Given the description of an element on the screen output the (x, y) to click on. 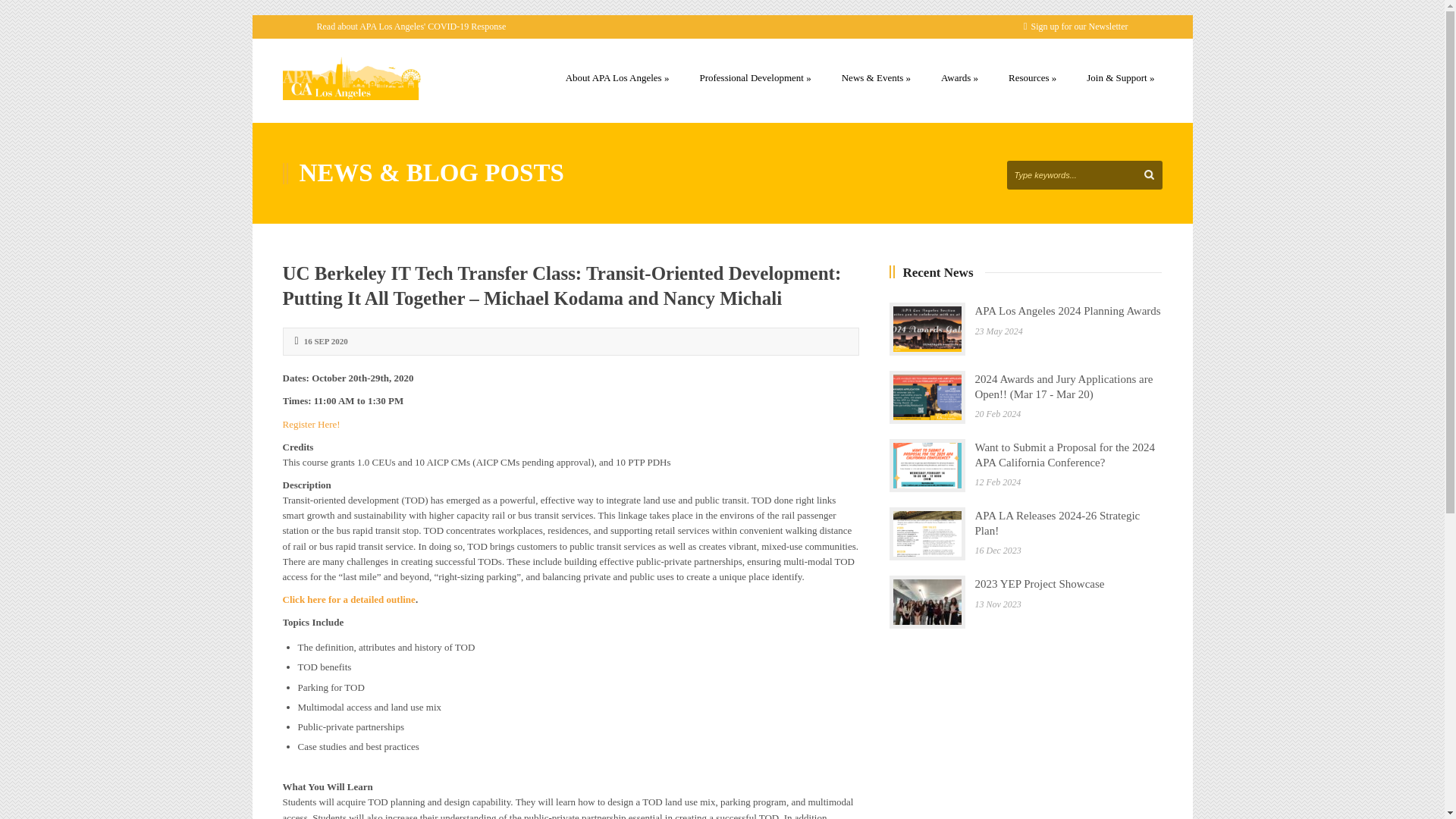
Click here for a detailed outline (348, 599)
Type keywords... (1084, 174)
16 SEP 2020 (325, 340)
Read about APA Los Angeles' COVID-19 Response (411, 26)
Sign up for our Newsletter (1075, 26)
Register Here! (310, 423)
